Given the description of an element on the screen output the (x, y) to click on. 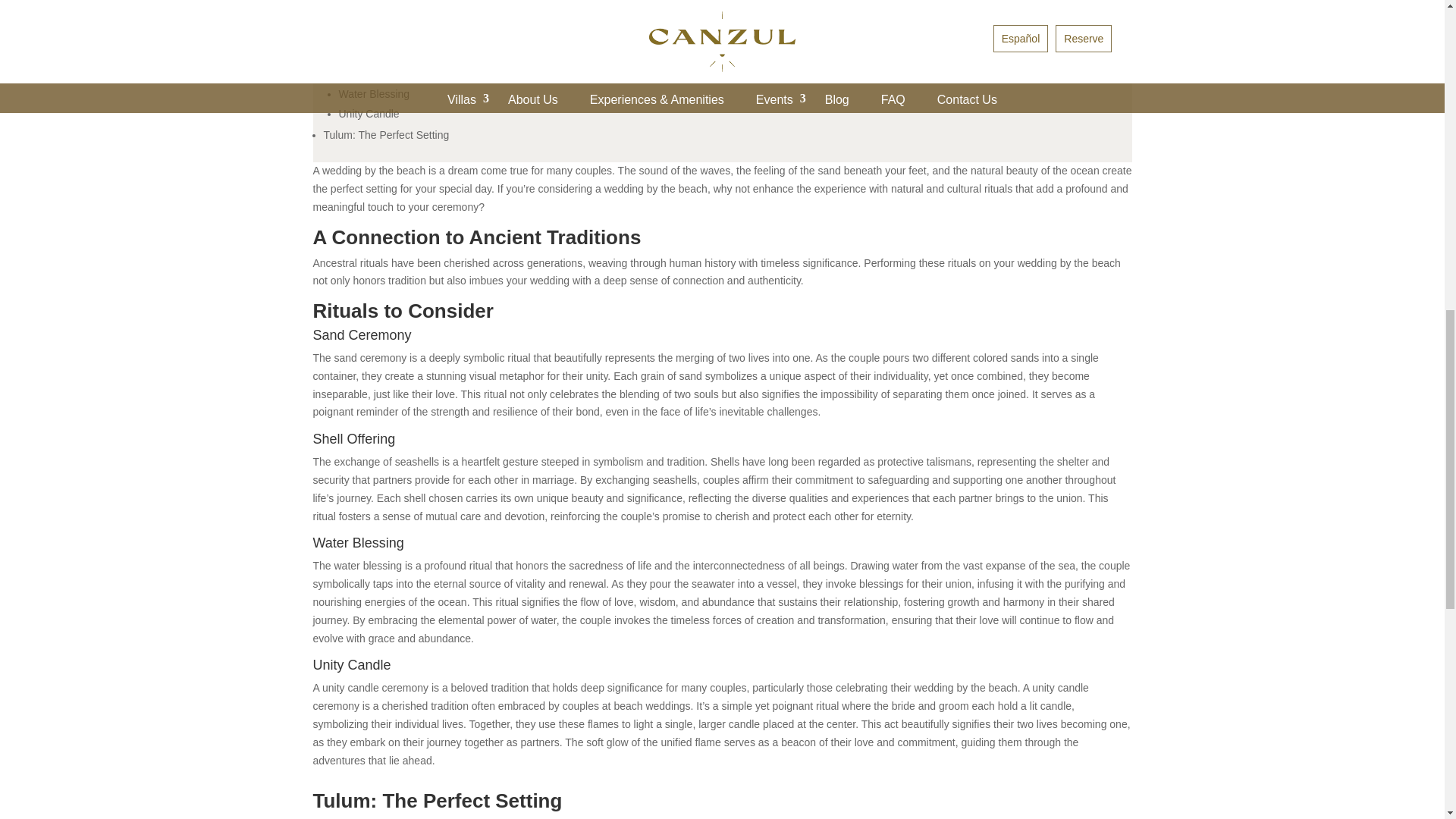
Tulum: The Perfect Setting (385, 134)
Rituals to Consider (367, 33)
Shell Offering (370, 73)
Water Blessing (373, 93)
Sand Ceremony (375, 54)
A Connection to Ancient Traditions (403, 13)
Unity Candle (367, 113)
